Given the description of an element on the screen output the (x, y) to click on. 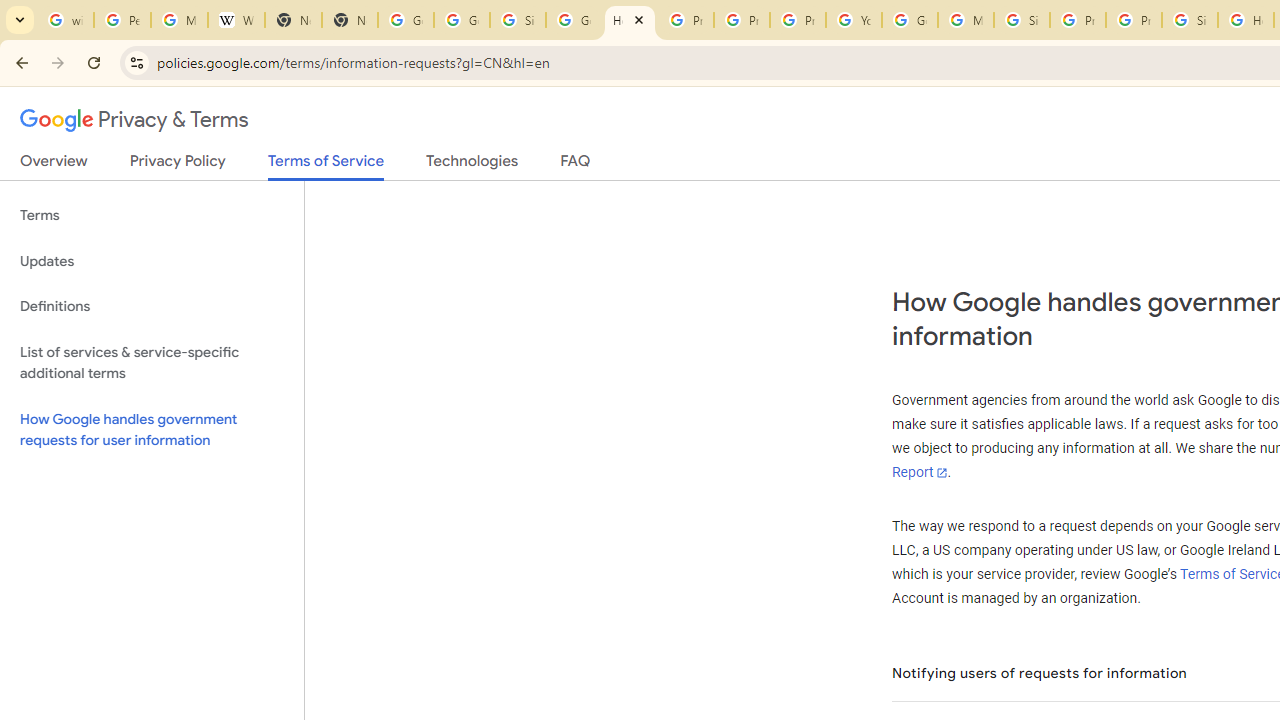
Sign in - Google Accounts (1190, 20)
Wikipedia:Edit requests - Wikipedia (235, 20)
New Tab (349, 20)
YouTube (853, 20)
Sign in - Google Accounts (518, 20)
